Given the description of an element on the screen output the (x, y) to click on. 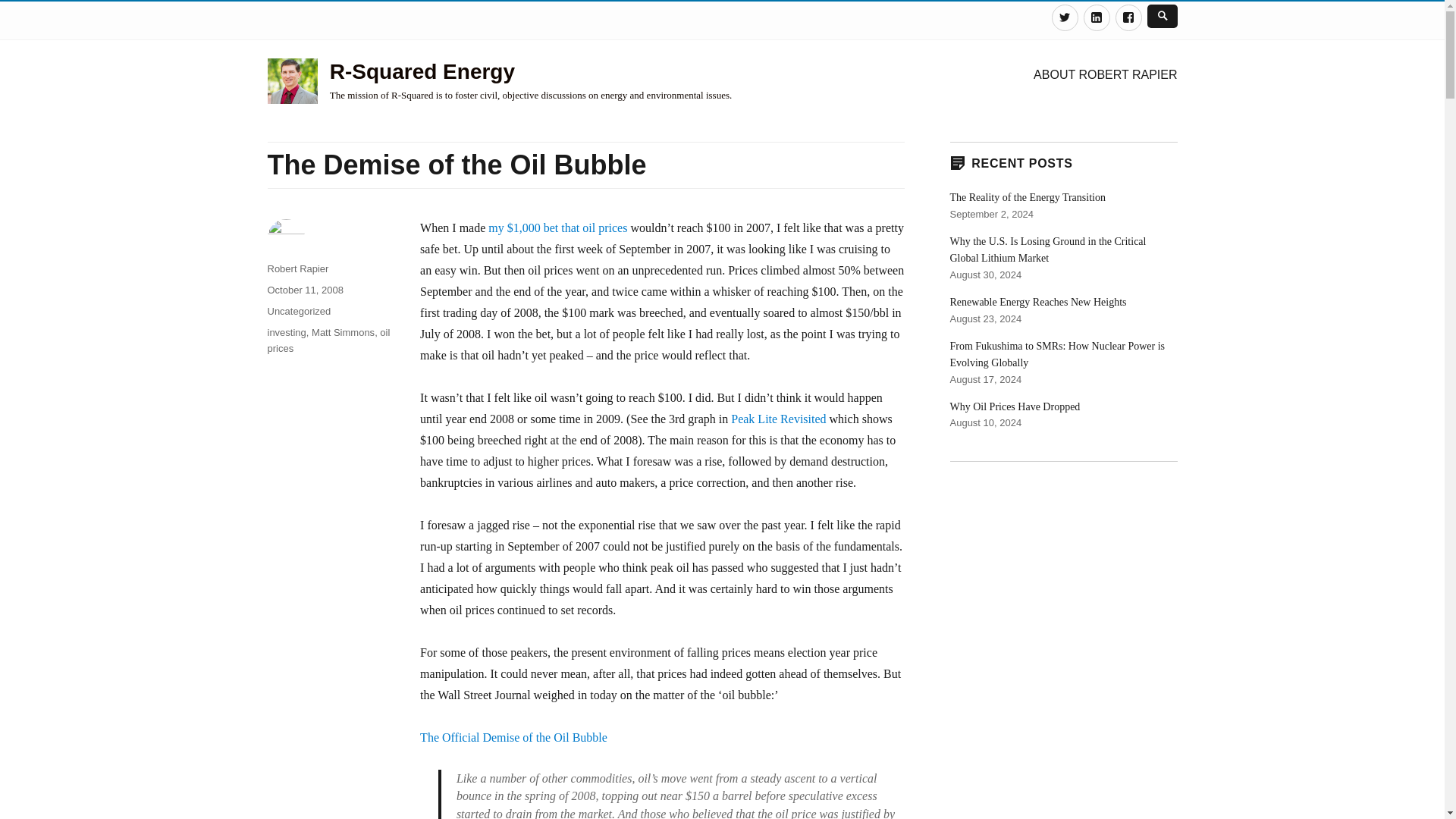
oil prices (328, 339)
Uncategorized (298, 310)
Facebook (1128, 17)
The Official Demise of the Oil Bubble (513, 737)
investing (285, 332)
ABOUT ROBERT RAPIER (1105, 74)
October 11, 2008 (304, 289)
Peak Lite Revisited (777, 418)
Twitter (1064, 17)
R-Squared Energy (422, 71)
